Given the description of an element on the screen output the (x, y) to click on. 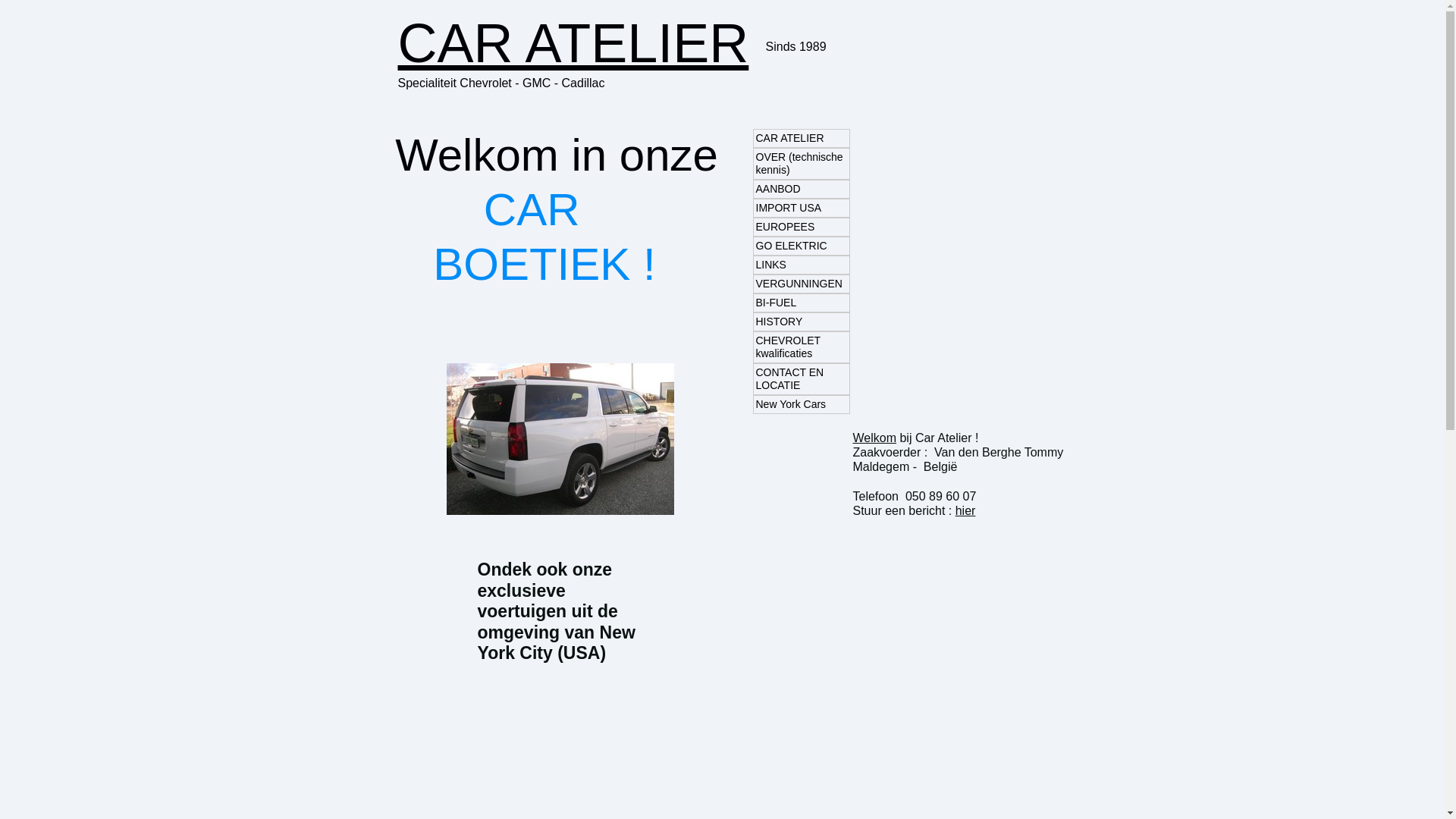
Stuur een bericht : hier Element type: text (913, 510)
GO ELEKTRIC Element type: text (800, 245)
LINKS Element type: text (800, 264)
CAR ATELIER Element type: text (800, 137)
VERGUNNINGEN Element type: text (800, 283)
AANBOD Element type: text (800, 188)
New York Cars Element type: text (800, 404)
CHEVROLET kwalificaties Element type: text (800, 347)
IMPORT USA Element type: text (800, 207)
EUROPEES Element type: text (800, 226)
Welkom bij Car Atelier ! Element type: text (915, 437)
CONTACT EN LOCATIE Element type: text (800, 379)
BI-FUEL Element type: text (800, 302)
Telefoon  050 89 60 07 Element type: text (913, 495)
Zaakvoerder :  Van den Berghe Tommy Element type: text (957, 451)
OVER (technische kennis) Element type: text (800, 163)
HISTORY Element type: text (800, 321)
